Given the description of an element on the screen output the (x, y) to click on. 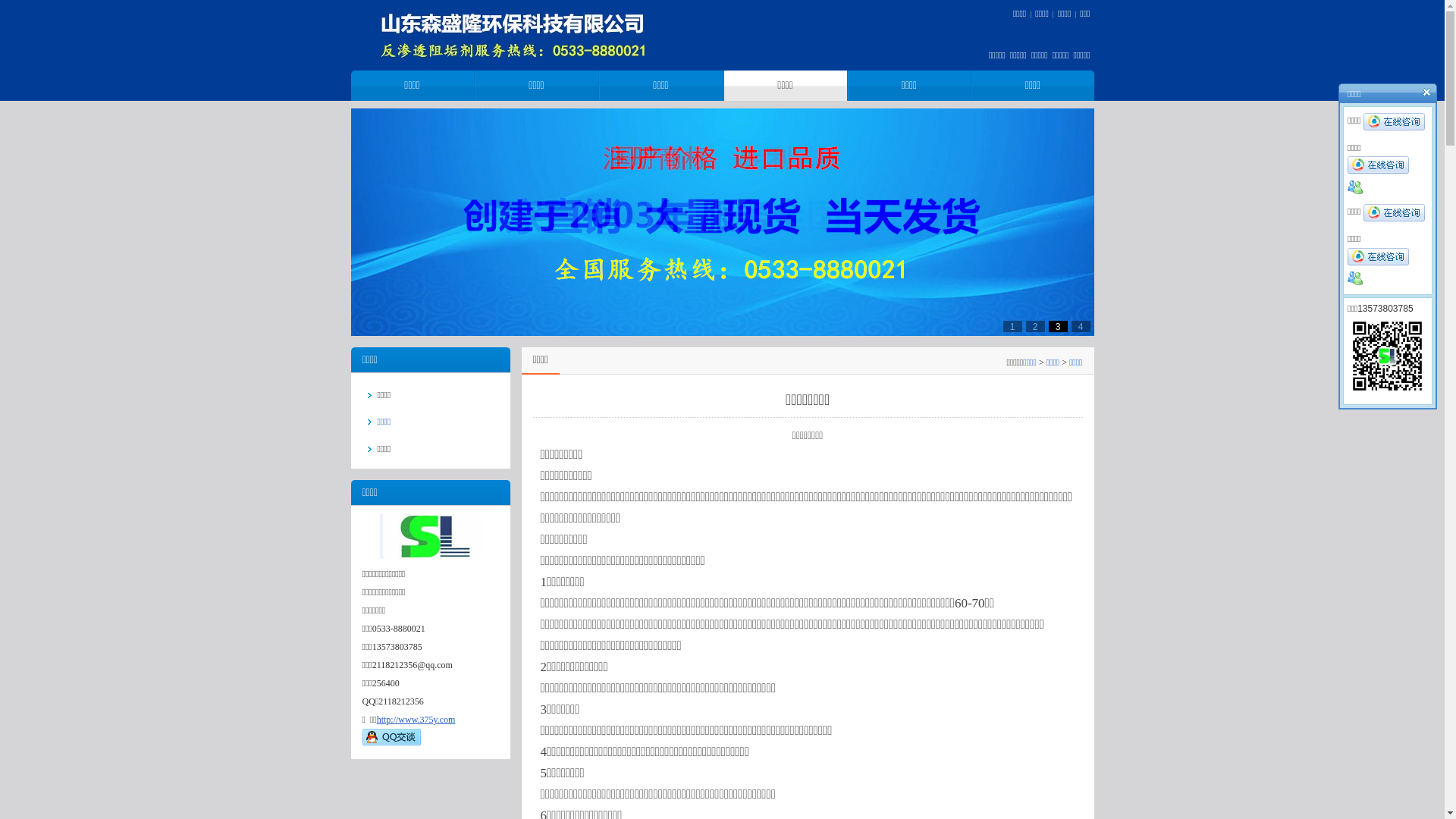
2 Element type: text (1034, 326)
3 Element type: text (1057, 326)
1 Element type: text (1011, 326)
4 Element type: text (1079, 326)
http://www.375y.com Element type: text (415, 719)
